Given the description of an element on the screen output the (x, y) to click on. 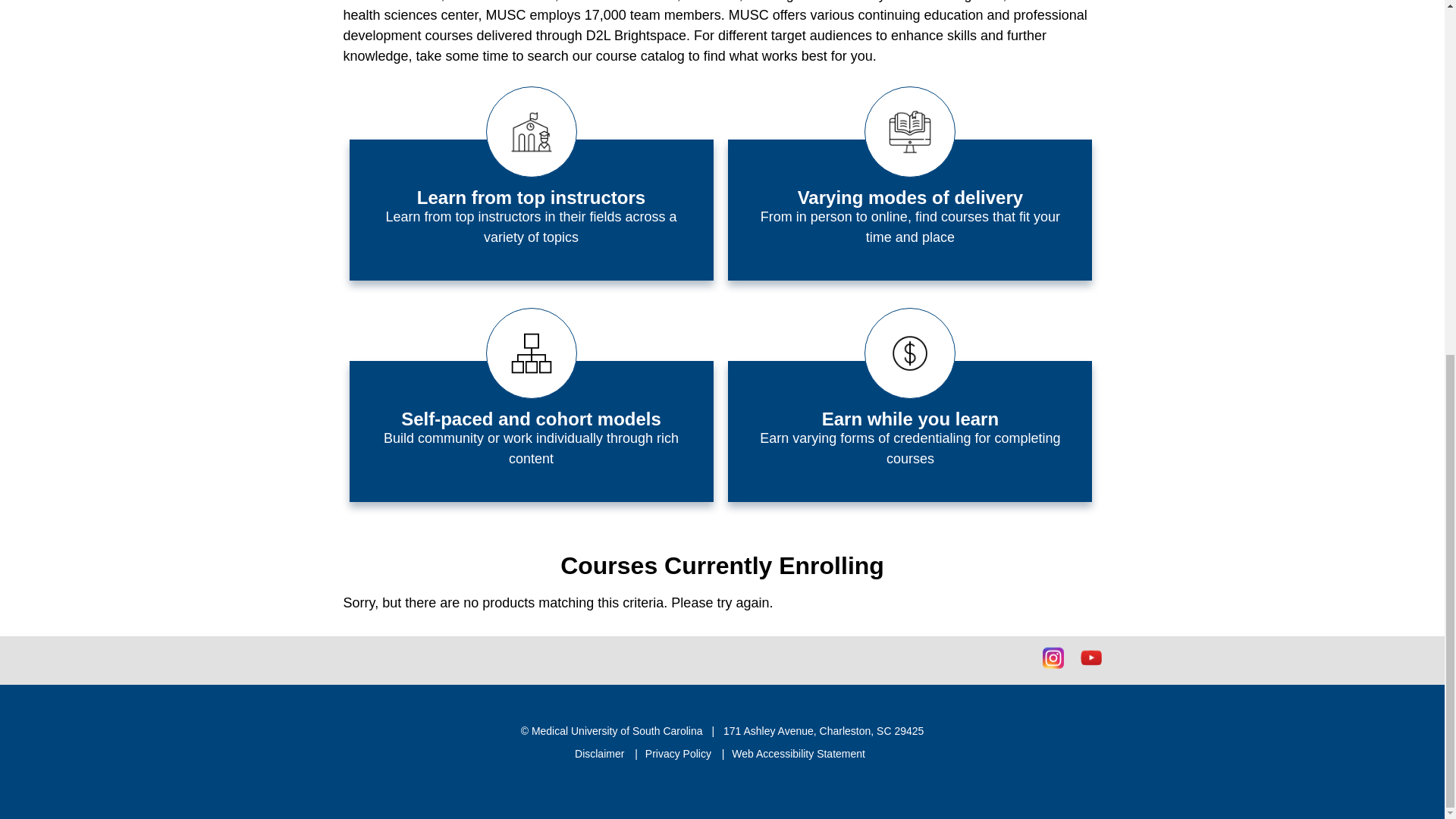
Privacy Policy (679, 753)
Disclaimer (601, 753)
Instagram (1053, 658)
Web Accessibility Statement (798, 753)
YouTube (1090, 658)
